Given the description of an element on the screen output the (x, y) to click on. 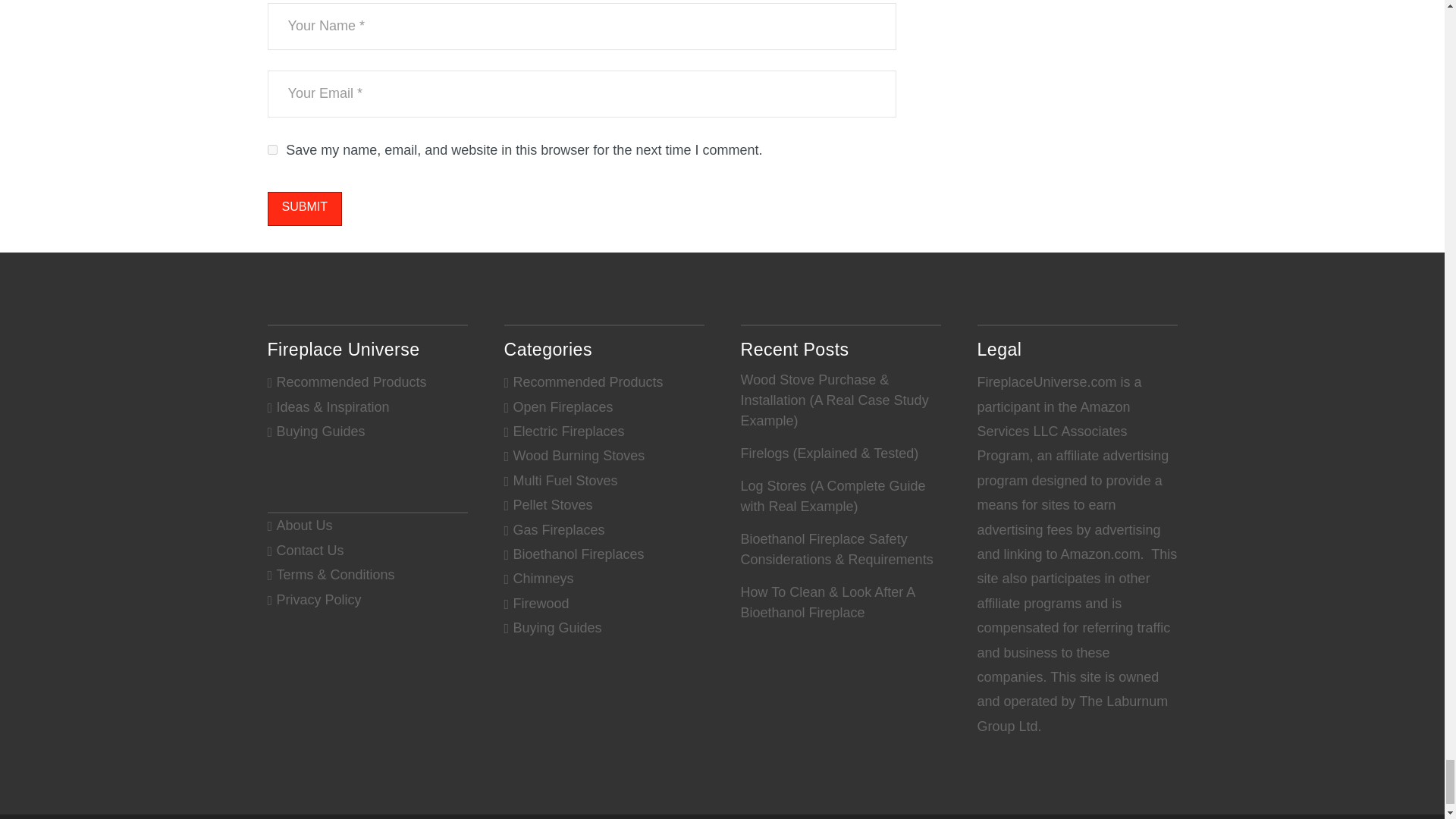
yes (271, 149)
Submit (303, 208)
